Given the description of an element on the screen output the (x, y) to click on. 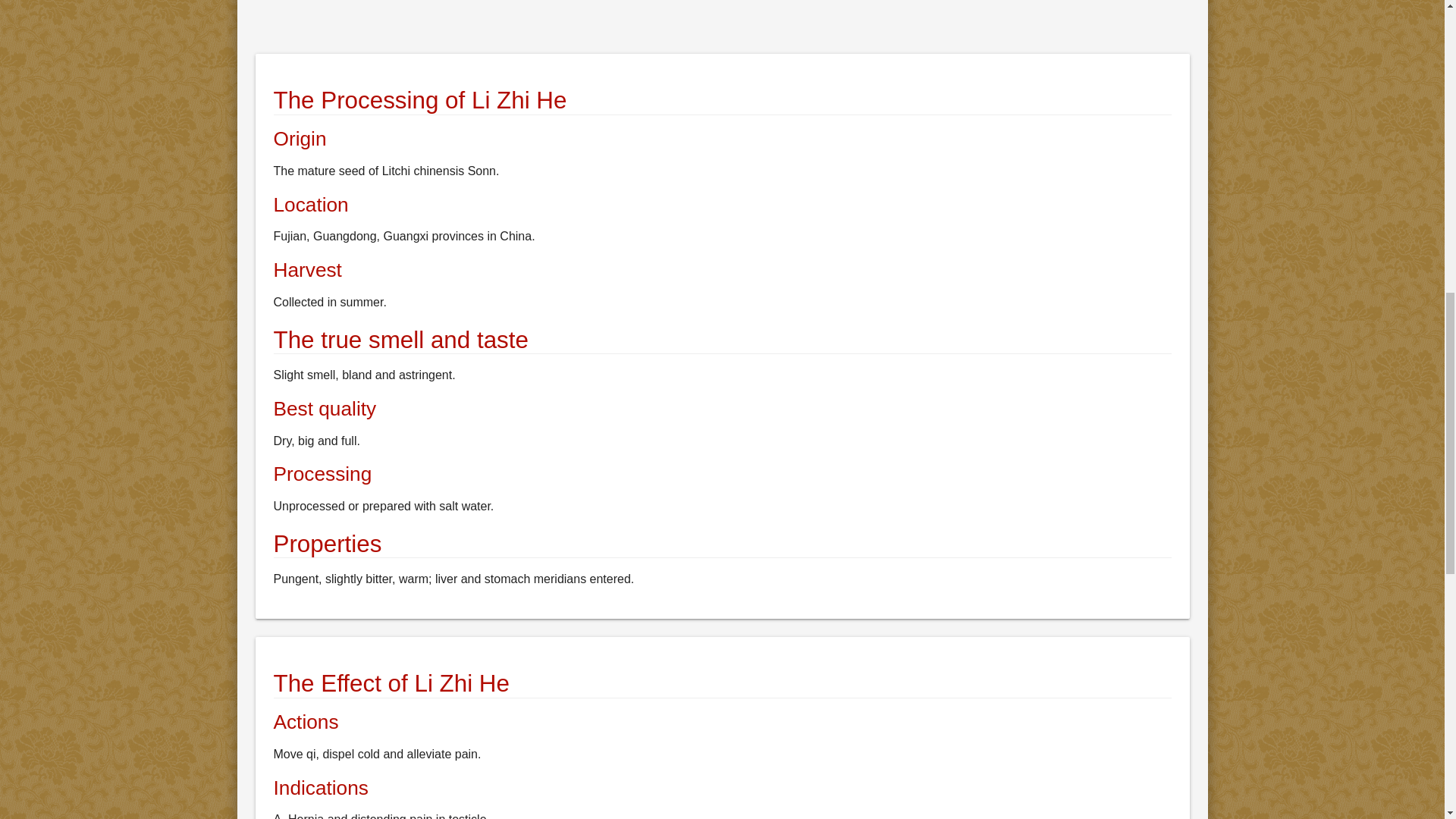
Advertisement (709, 23)
